Given the description of an element on the screen output the (x, y) to click on. 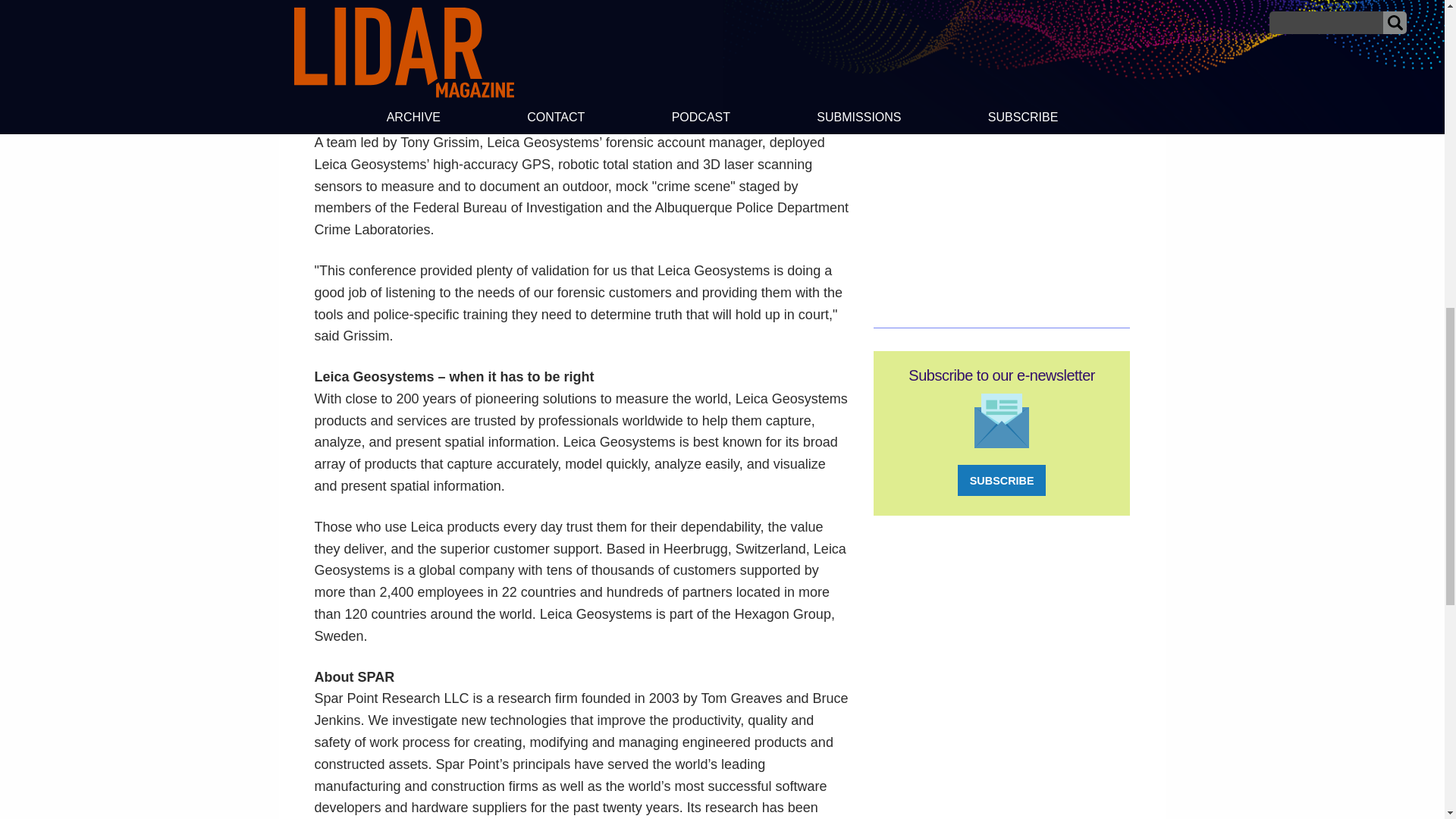
SUBSCRIBE (1001, 480)
3rd party ad content (1001, 152)
